Given the description of an element on the screen output the (x, y) to click on. 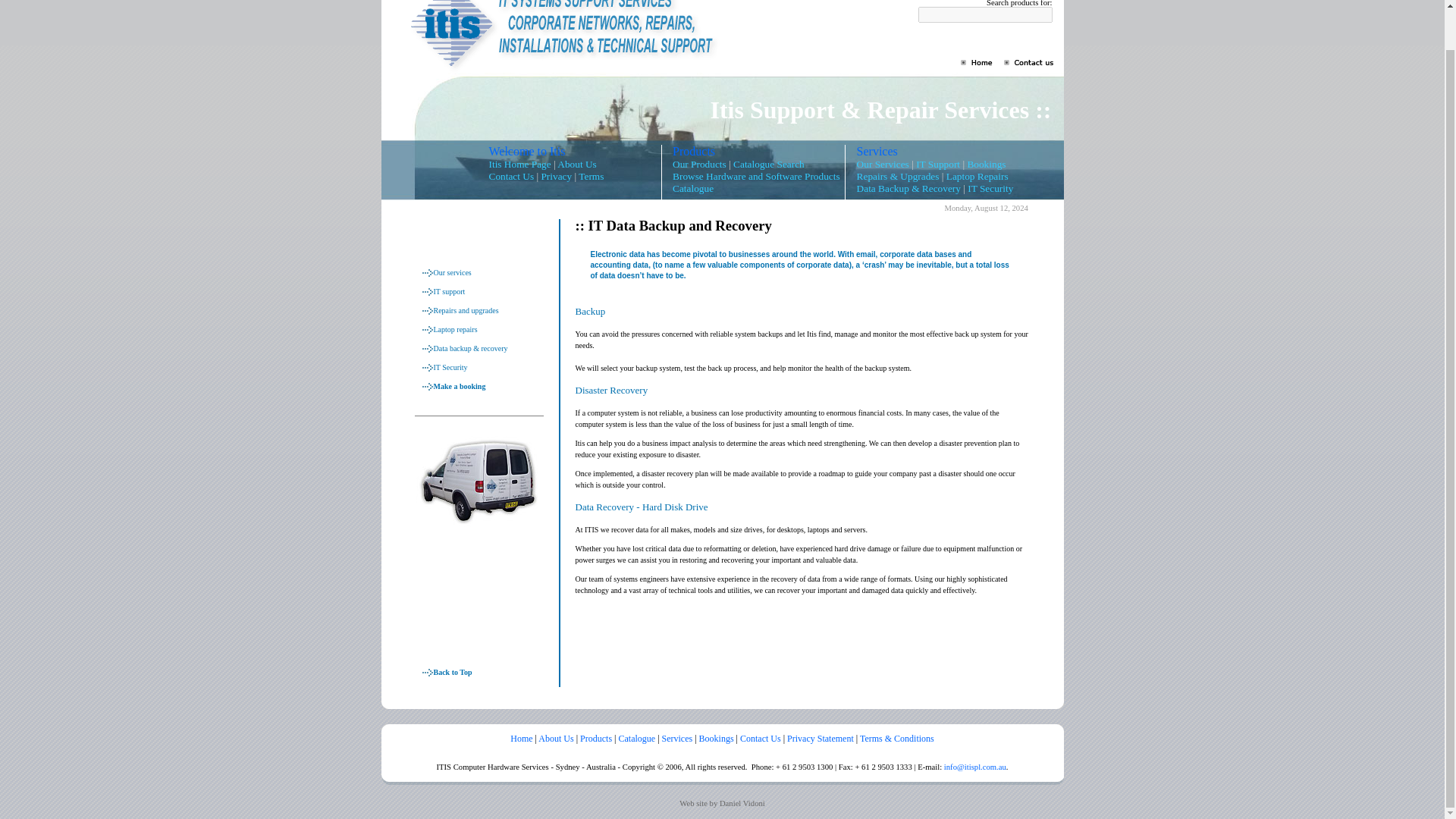
Web site by Daniel Vidoni (722, 803)
Repairs and upgrades (466, 310)
IT Security (990, 188)
IT Support (937, 163)
Contact Us (510, 175)
Privacy Statement (820, 738)
Make a booking (459, 386)
Browse Hardware and Software Products Catalogue (756, 182)
Products (595, 738)
About Us (576, 163)
